Given the description of an element on the screen output the (x, y) to click on. 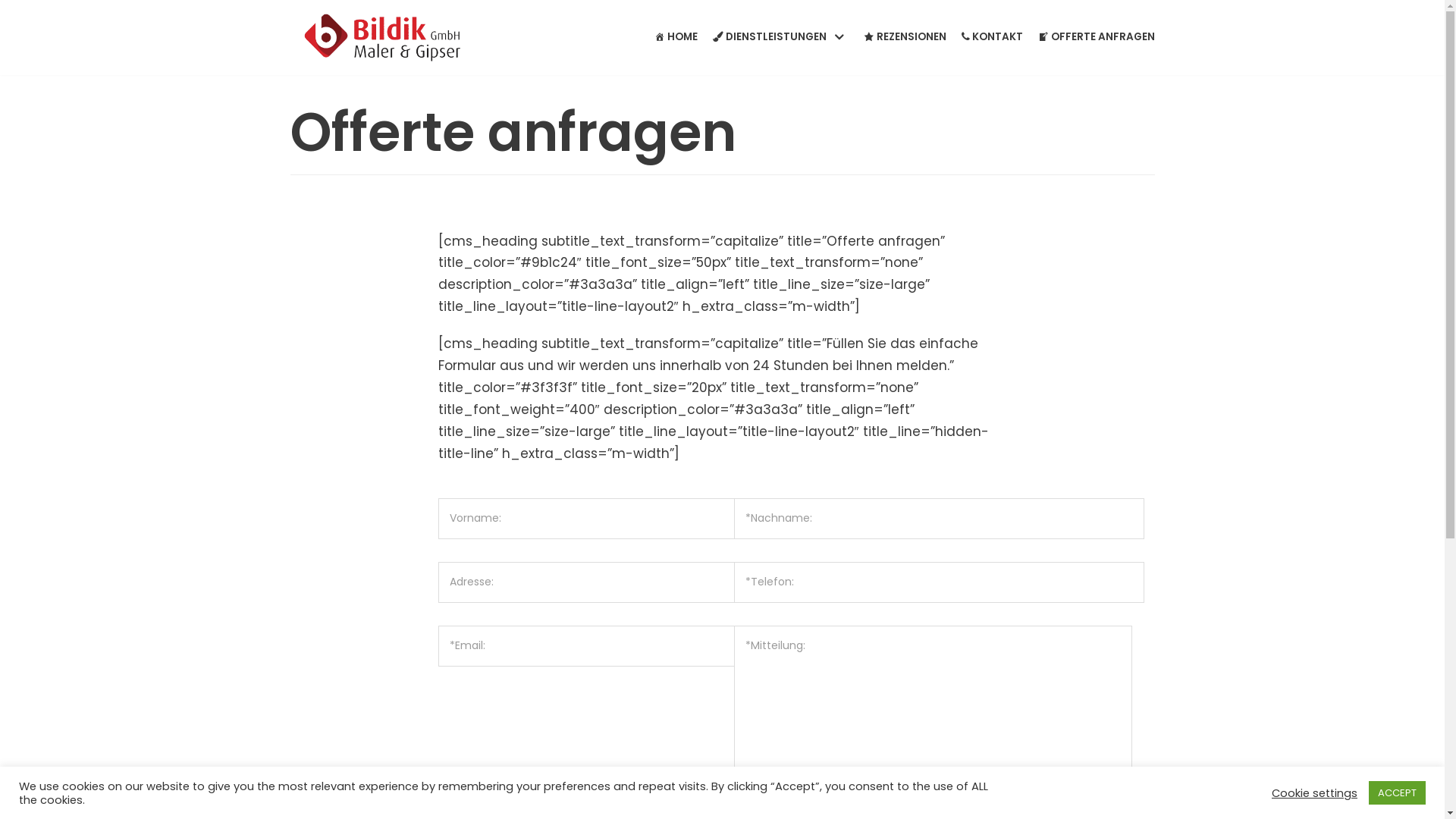
DIENSTLEISTUNGEN Element type: text (780, 37)
ACCEPT Element type: text (1396, 792)
HOME Element type: text (675, 37)
OFFERTE ANFRAGEN Element type: text (1095, 37)
Skip to content Element type: text (15, 31)
Cookie settings Element type: text (1314, 792)
KONTAKT Element type: text (991, 37)
REZENSIONEN Element type: text (903, 37)
